Given the description of an element on the screen output the (x, y) to click on. 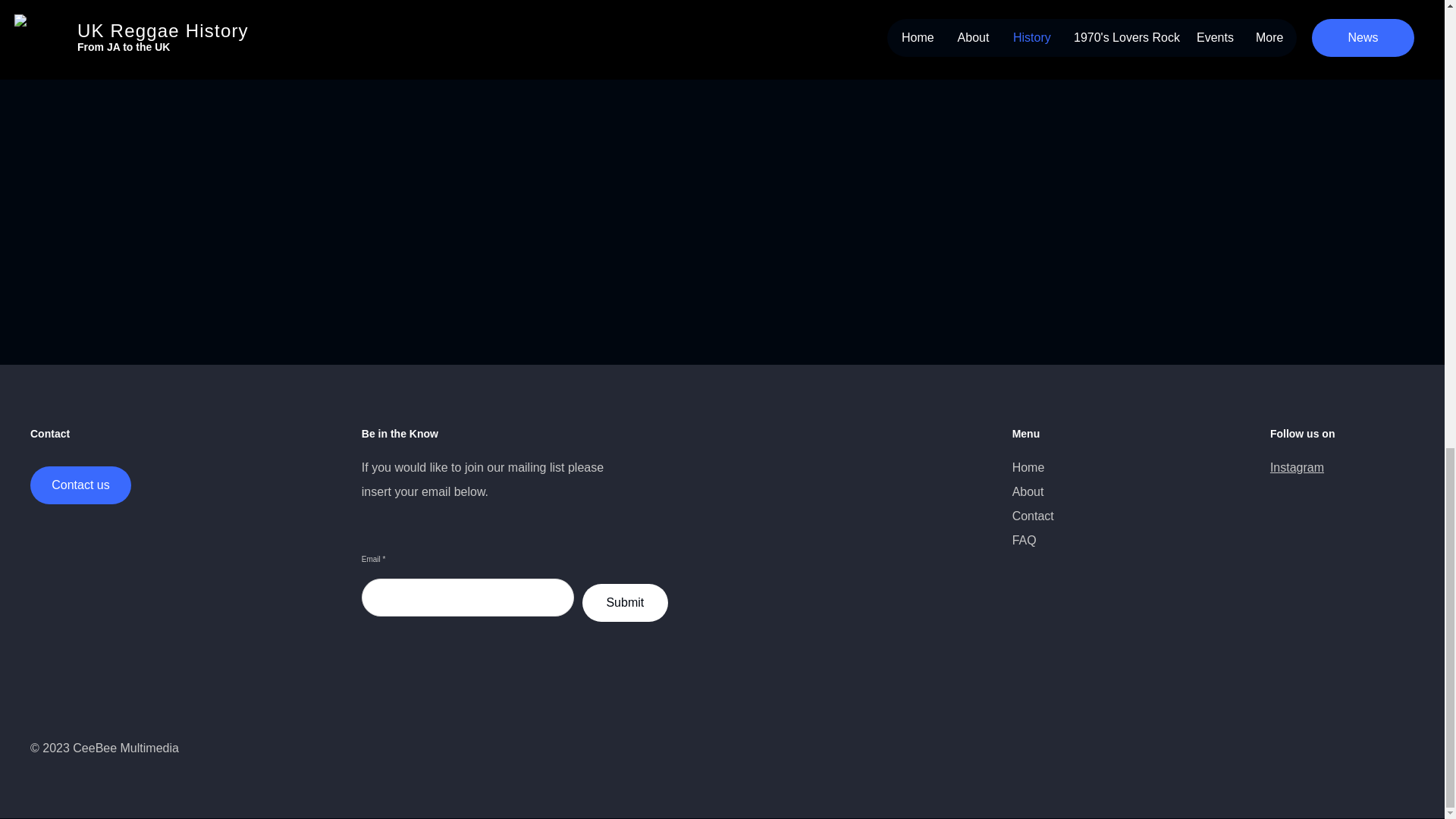
Submit (625, 602)
About (1027, 491)
Contact (1032, 515)
Contact us (80, 485)
Home (1028, 467)
FAQ (1023, 540)
Instagram (1296, 467)
